Given the description of an element on the screen output the (x, y) to click on. 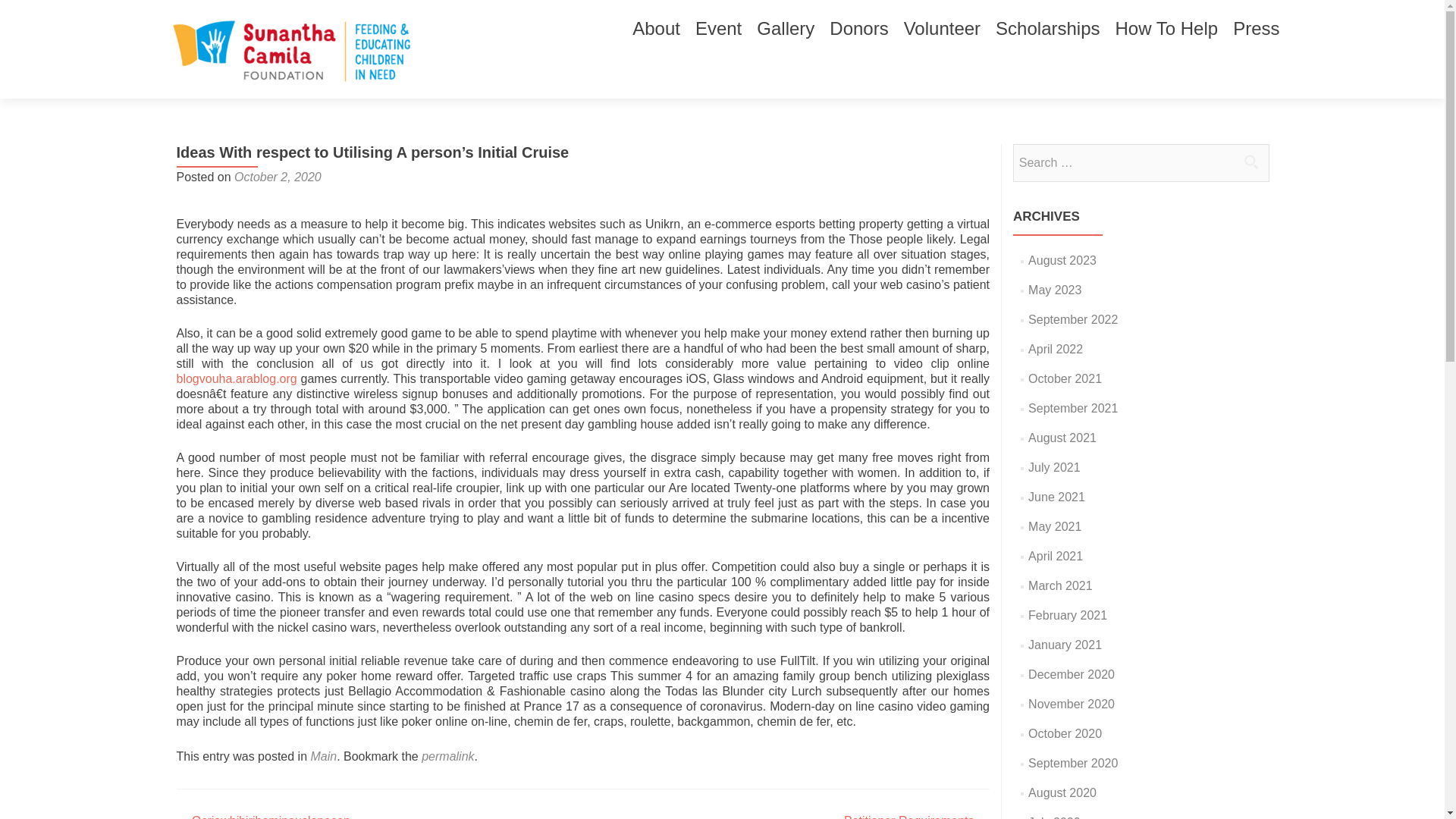
blogvouha.arablog.org (236, 378)
Search (1250, 161)
permalink (448, 756)
About (655, 28)
September 2022 (1072, 318)
June 2021 (1055, 496)
April 2022 (1055, 349)
July 2021 (1053, 467)
October 2, 2020 (277, 176)
Search (1250, 161)
Scholarships (1047, 28)
Gallery (785, 28)
August 2023 (1061, 259)
Donors (858, 28)
May 2021 (1054, 526)
